Given the description of an element on the screen output the (x, y) to click on. 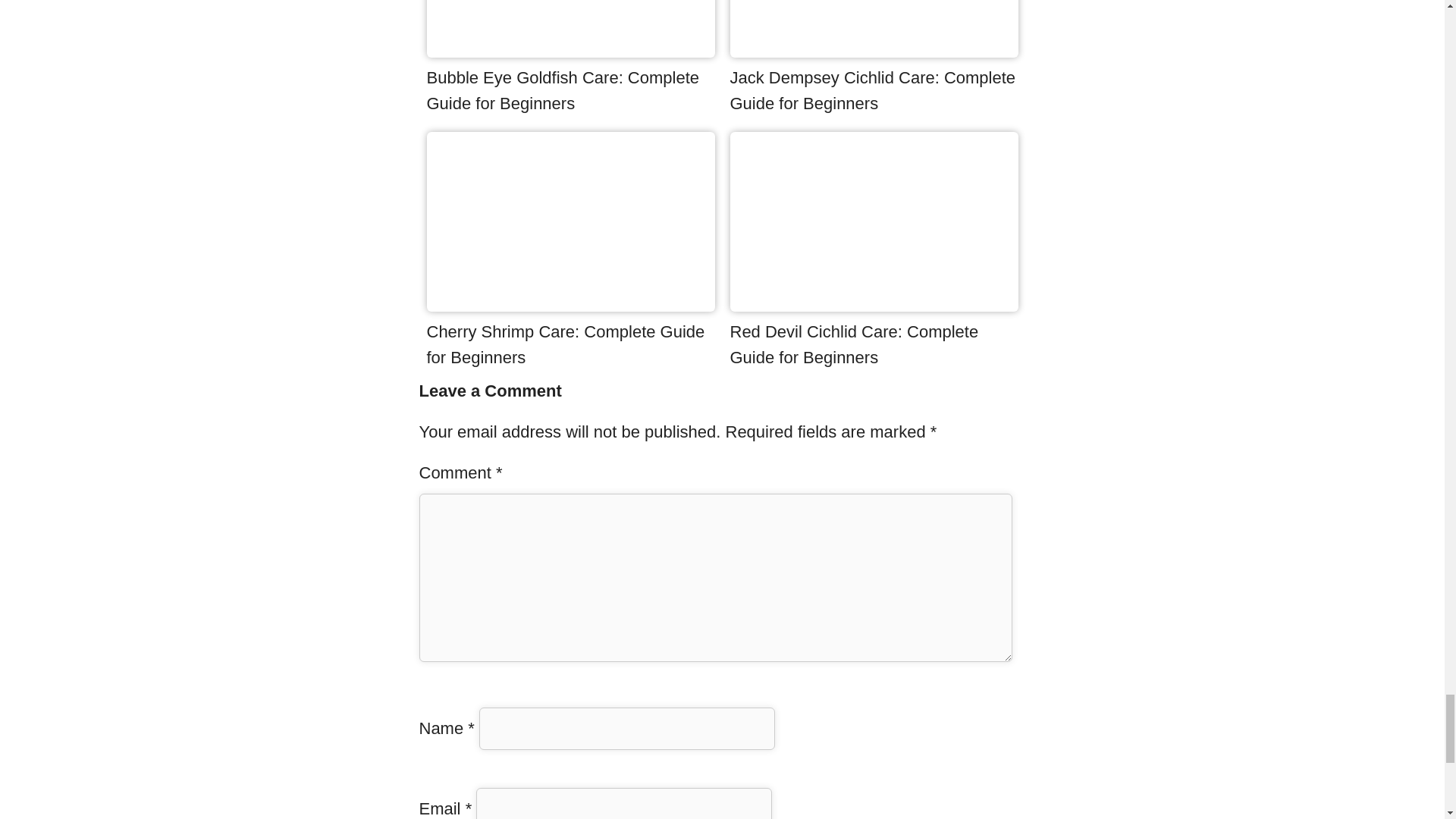
Cherry Shrimp Care: Complete Guide for Beginners (570, 305)
Cherry Shrimp Care: Complete Guide for Beginners (565, 344)
Red Devil Cichlid Care: Complete Guide for Beginners (853, 344)
Jack Dempsey Cichlid Care: Complete Guide for Beginners (871, 90)
Cherry Shrimp Care: Complete Guide for Beginners (565, 344)
Jack Dempsey Cichlid Care: Complete Guide for Beginners (871, 90)
Red Devil Cichlid Care: Complete Guide for Beginners (873, 305)
Bubble Eye Goldfish Care: Complete Guide for Beginners (562, 90)
Bubble Eye Goldfish Care: Complete Guide for Beginners (570, 51)
Jack Dempsey Cichlid Care: Complete Guide for Beginners (873, 51)
